Given the description of an element on the screen output the (x, y) to click on. 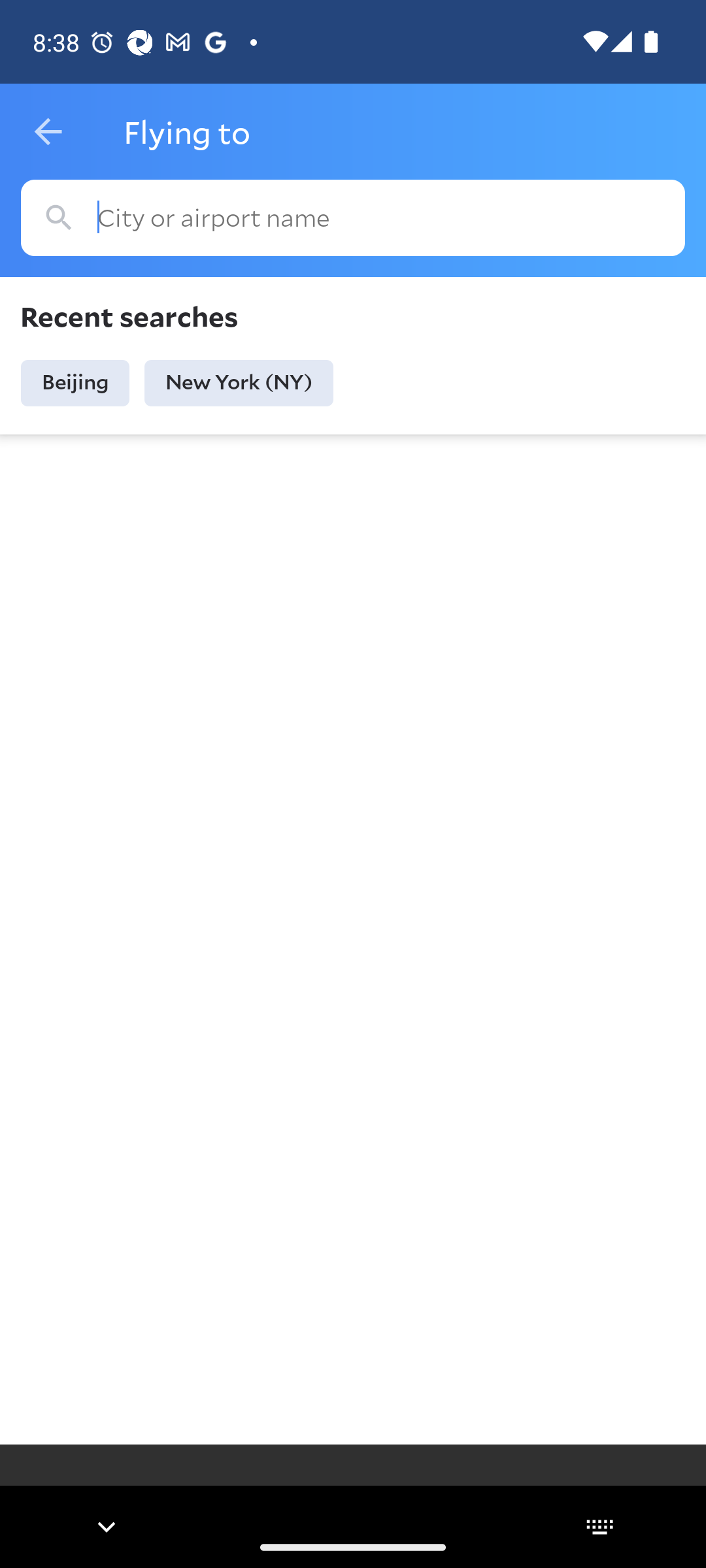
Navigate up (48, 131)
City or airport name (352, 217)
Beijing  Beijing (74, 383)
New York (NY)  New York (NY) (238, 383)
